Given the description of an element on the screen output the (x, y) to click on. 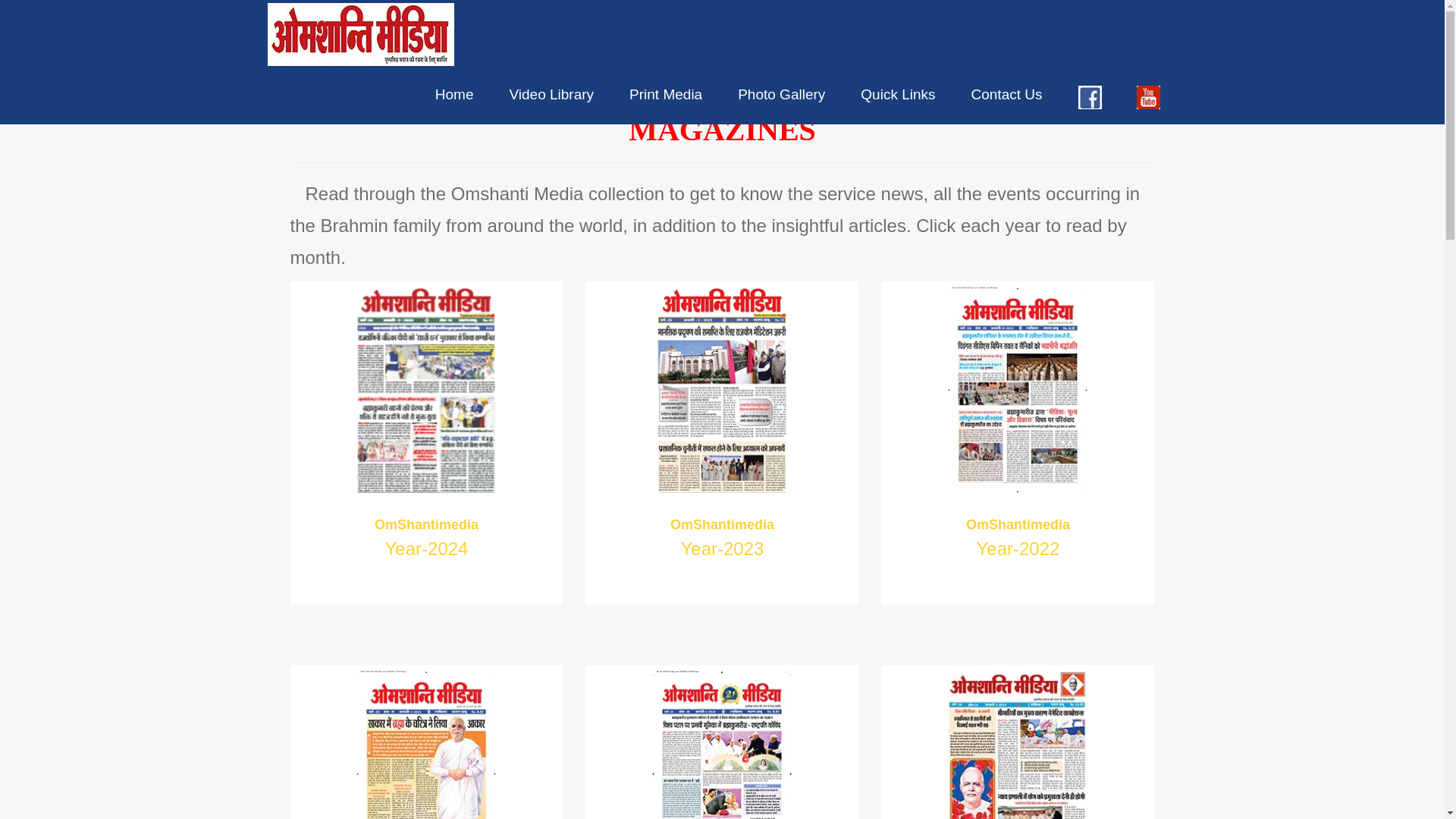
Photo Gallery (781, 94)
Photo Gallery (781, 94)
Video Library (551, 94)
Video Library (551, 94)
Home (454, 94)
Home (454, 94)
Quick Links (898, 94)
Contact Us (1007, 94)
Contact Us (1007, 94)
Print Media (666, 94)
Quick Links (898, 94)
Print Media (666, 94)
